Given the description of an element on the screen output the (x, y) to click on. 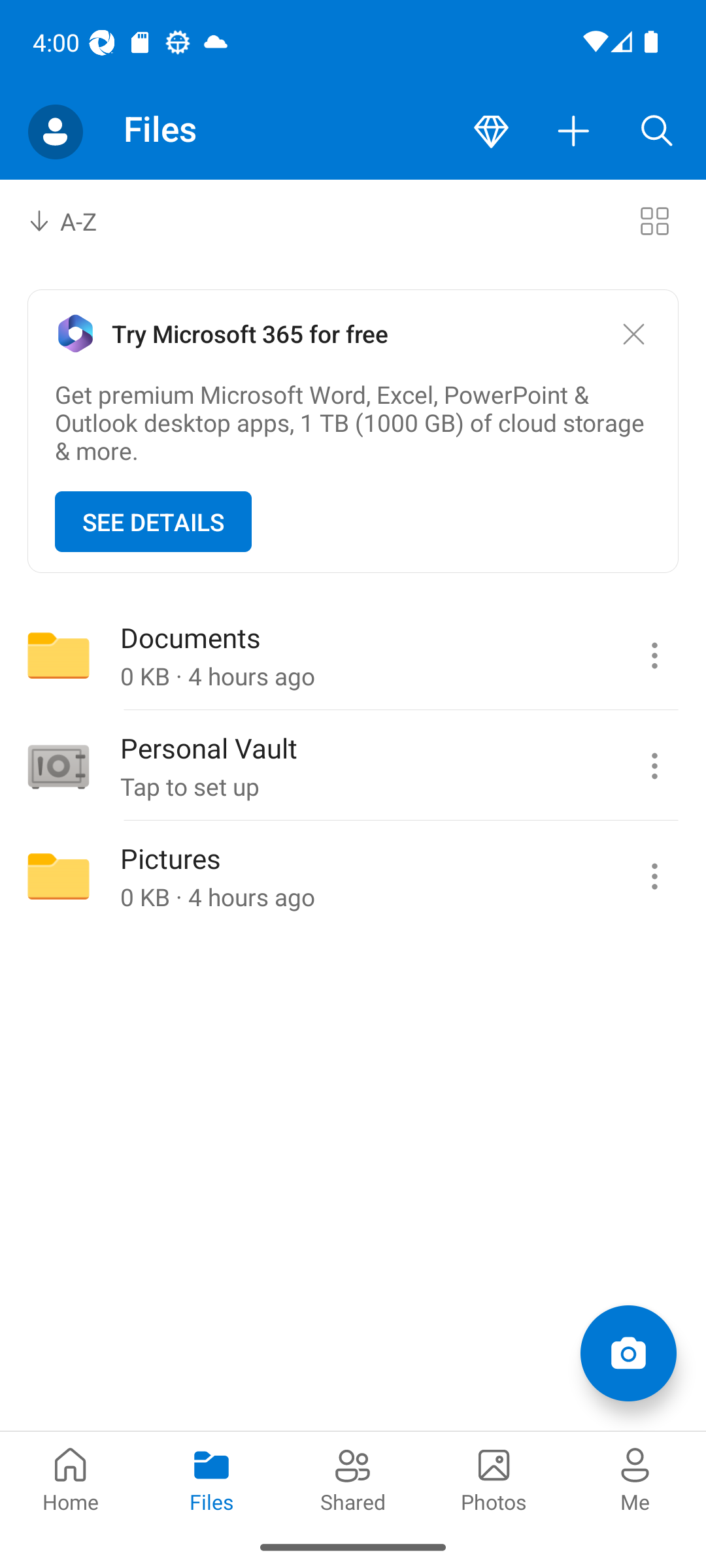
Account switcher (55, 131)
Premium button (491, 131)
More actions button (574, 131)
Search button (656, 131)
A-Z Sort by combo box, sort by name, A to Z (76, 220)
Switch to tiles view (654, 220)
Close (633, 334)
SEE DETAILS (153, 520)
Documents commands (654, 655)
Personal Vault commands (654, 765)
Pictures commands (654, 876)
Add items Scan (628, 1352)
Home pivot Home (70, 1478)
Shared pivot Shared (352, 1478)
Photos pivot Photos (493, 1478)
Me pivot Me (635, 1478)
